Given the description of an element on the screen output the (x, y) to click on. 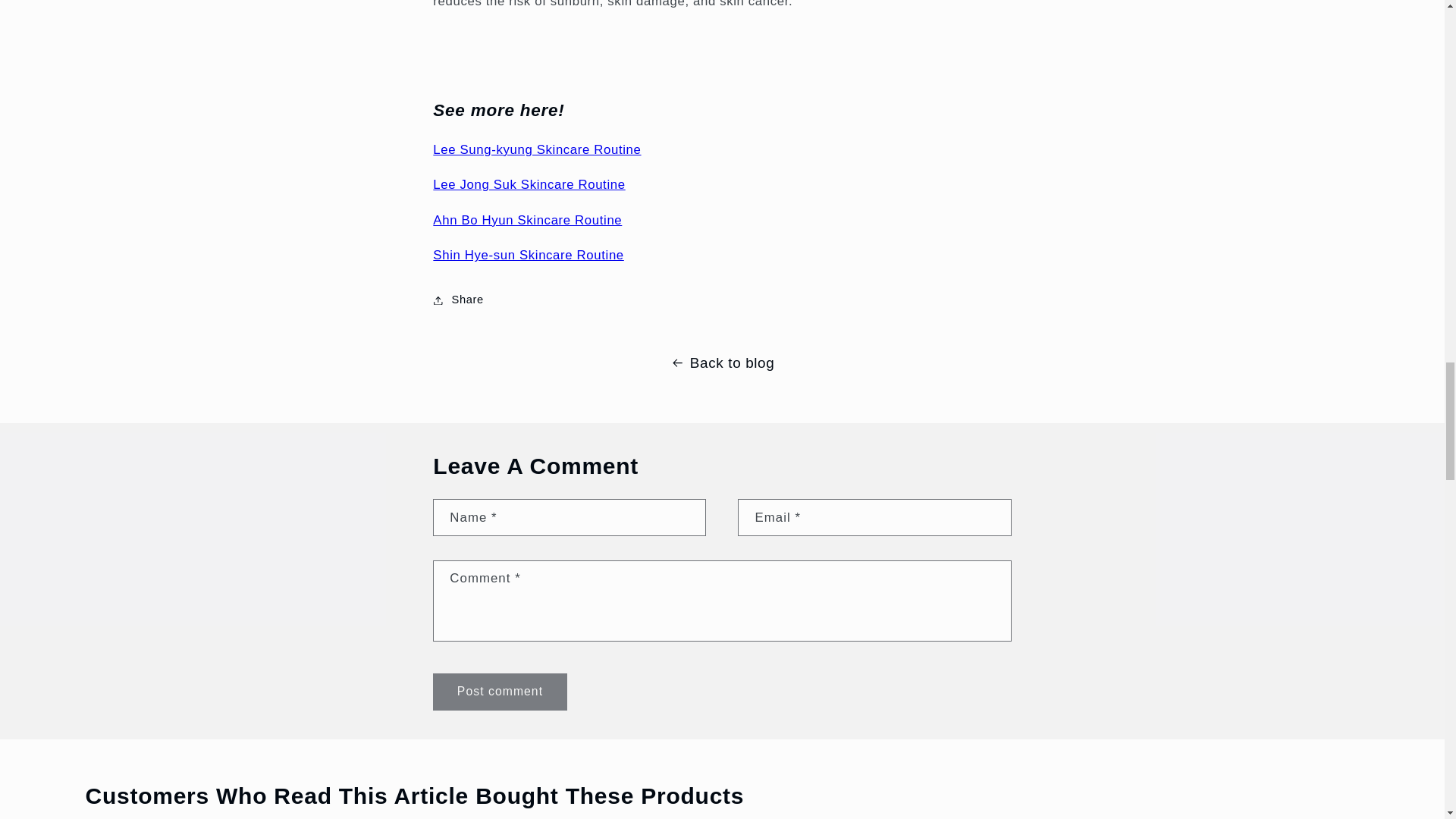
Lee Jong Suk Skincare Routine: A Comprehensive Guide (528, 184)
Lee Sung-kyung Skincare Routine: A Comprehensive Guide (536, 149)
Post comment (499, 691)
Shin Hye-sun Skincare Routine: A Comprehensive Guide (527, 255)
Ahn Bo Hyun Skincare Routine: A Comprehensive Guide (526, 219)
